Given the description of an element on the screen output the (x, y) to click on. 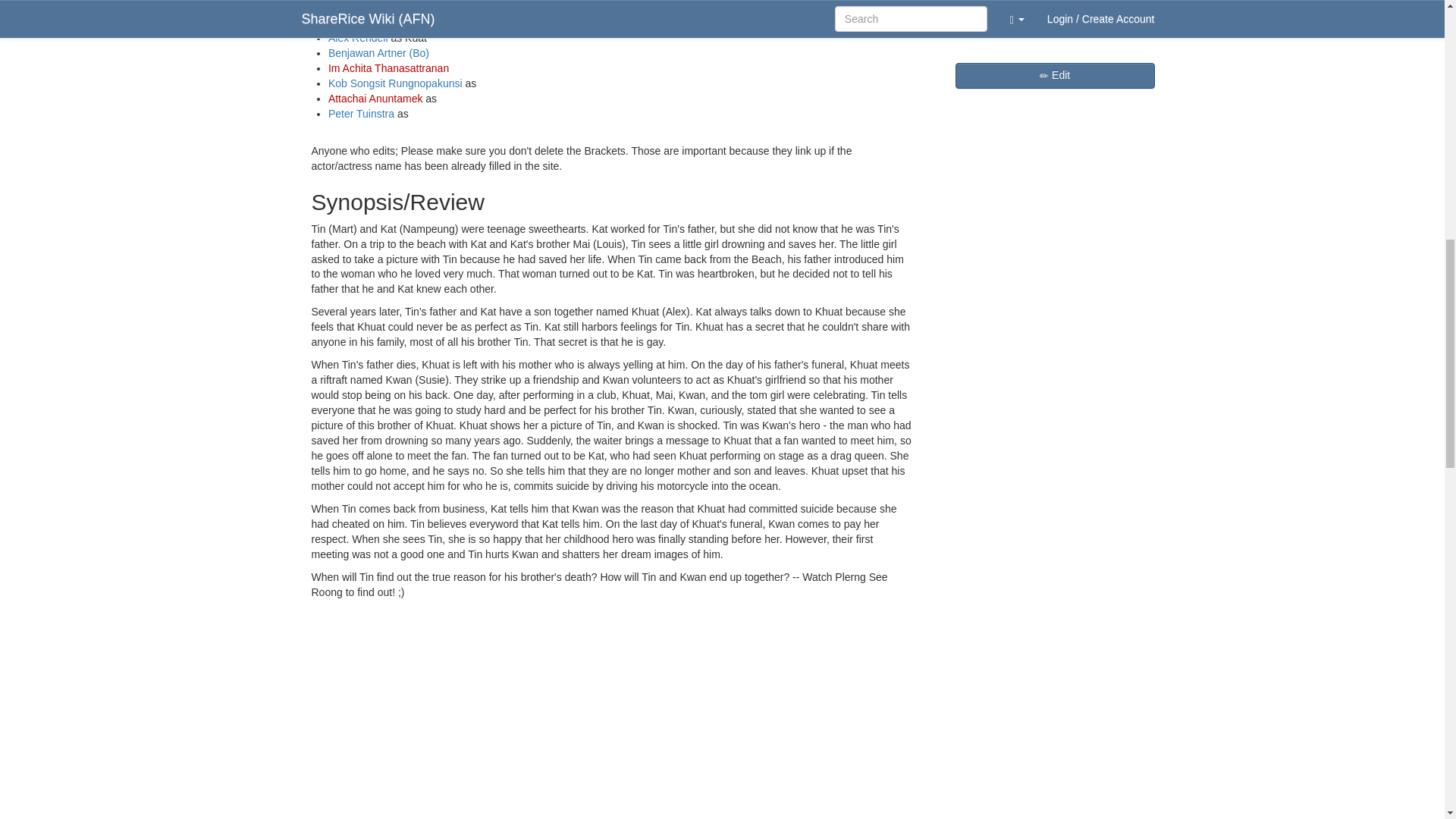
Alex Rendell (358, 37)
Natharika Thamapreedanan (394, 7)
Louis Scott (354, 22)
Louis Scott (354, 22)
Natharika Thamapreedanan (394, 7)
